Given the description of an element on the screen output the (x, y) to click on. 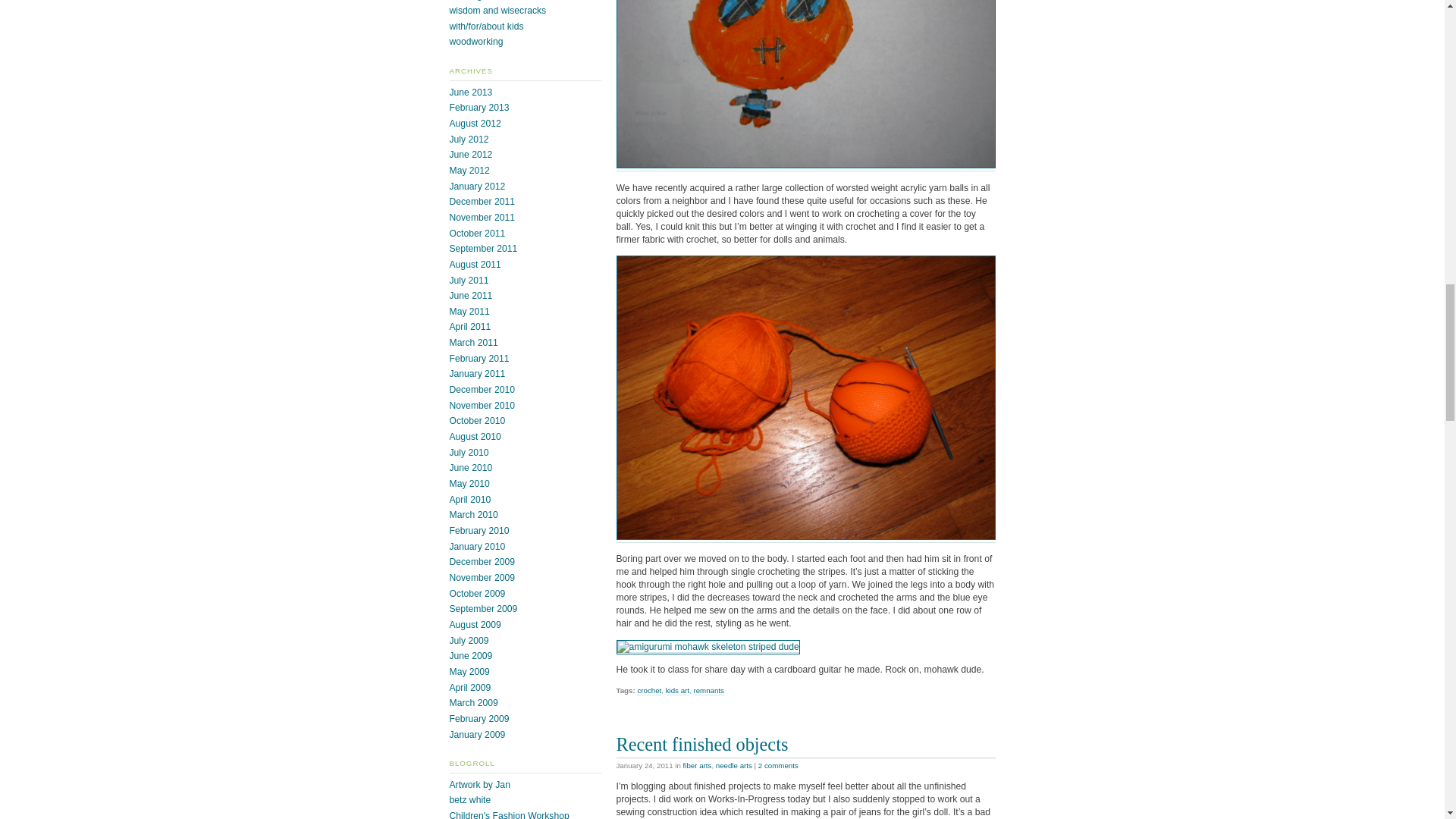
needle arts (734, 765)
crochet (649, 690)
remnants (708, 690)
Permanent link to Recent finished objects (701, 743)
Recent finished objects (701, 743)
kids art (676, 690)
2 comments (777, 765)
fiber arts (696, 765)
